Given the description of an element on the screen output the (x, y) to click on. 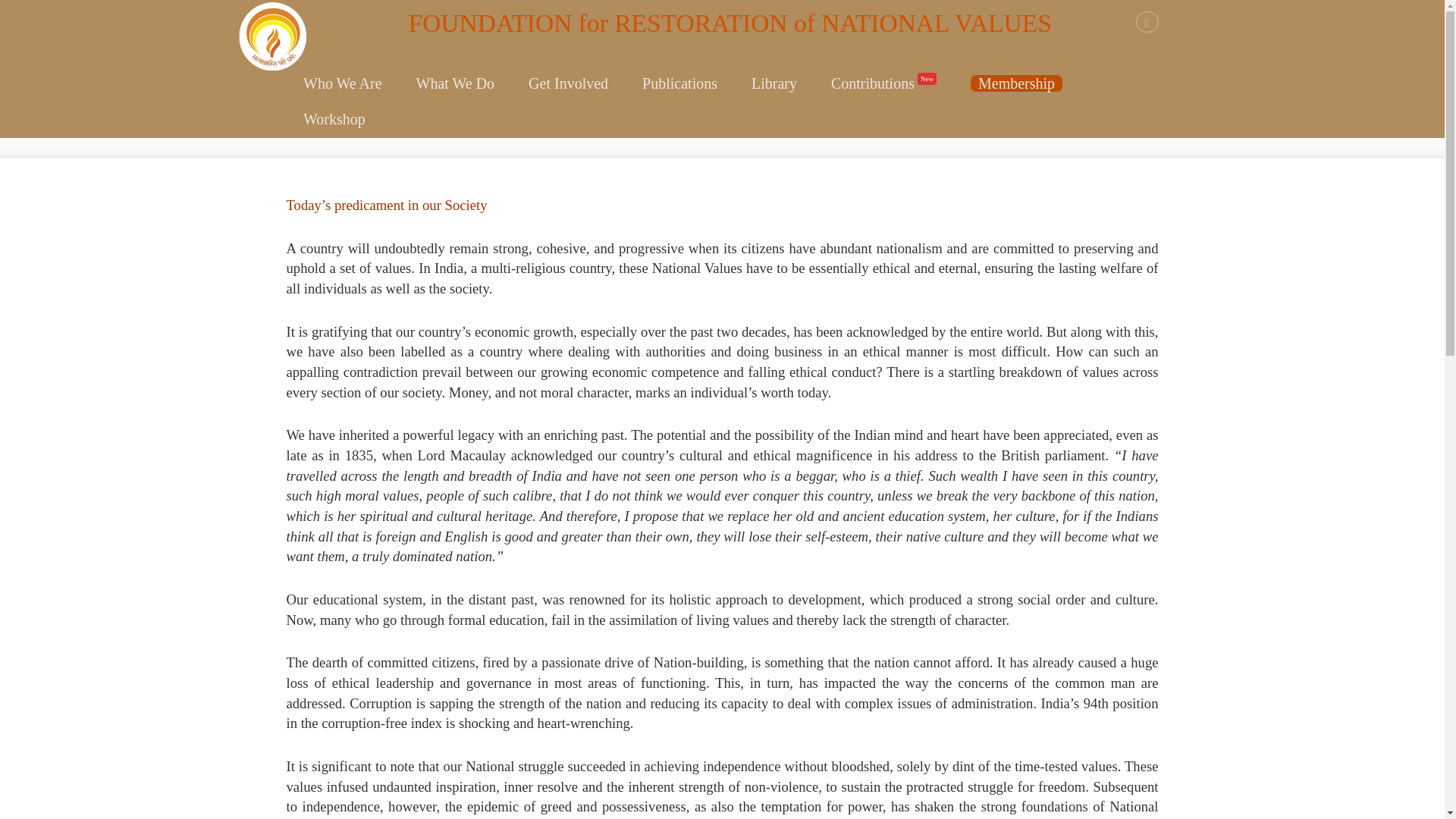
FOUNDATION for RESTORATION of NATIONAL VALUES (668, 40)
What We Do (455, 84)
Get Involved (569, 84)
Who We Are (342, 84)
Publications (680, 84)
